Given the description of an element on the screen output the (x, y) to click on. 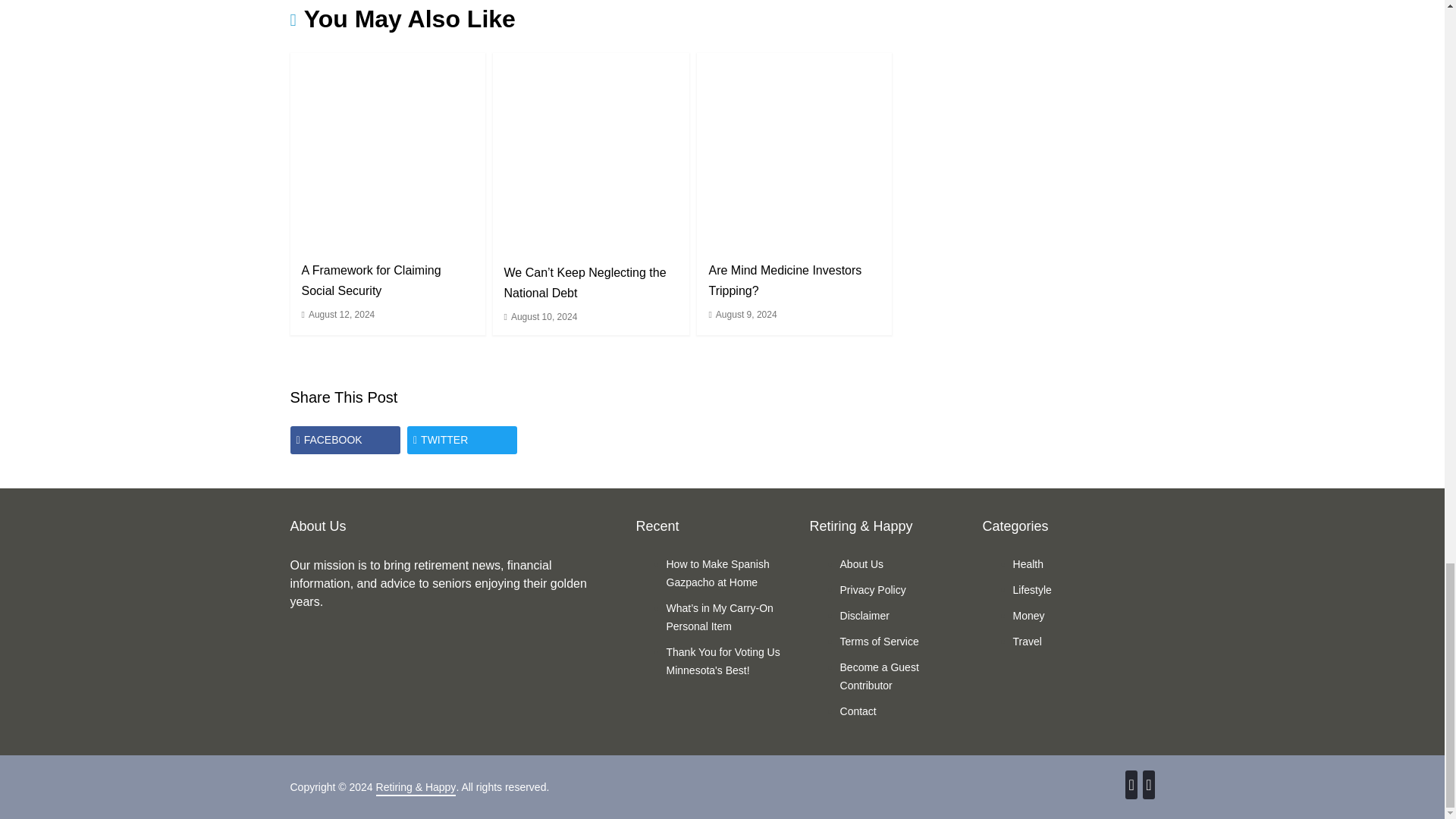
August 10, 2024 (543, 317)
A Framework for Claiming Social Security (371, 280)
FACEBOOK (343, 439)
August 12, 2024 (341, 314)
Are Mind Medicine Investors Tripping? (794, 150)
TWITTER (461, 439)
August 9, 2024 (746, 314)
A Framework for Claiming Social Security (386, 150)
Are Mind Medicine Investors Tripping? (784, 280)
